Given the description of an element on the screen output the (x, y) to click on. 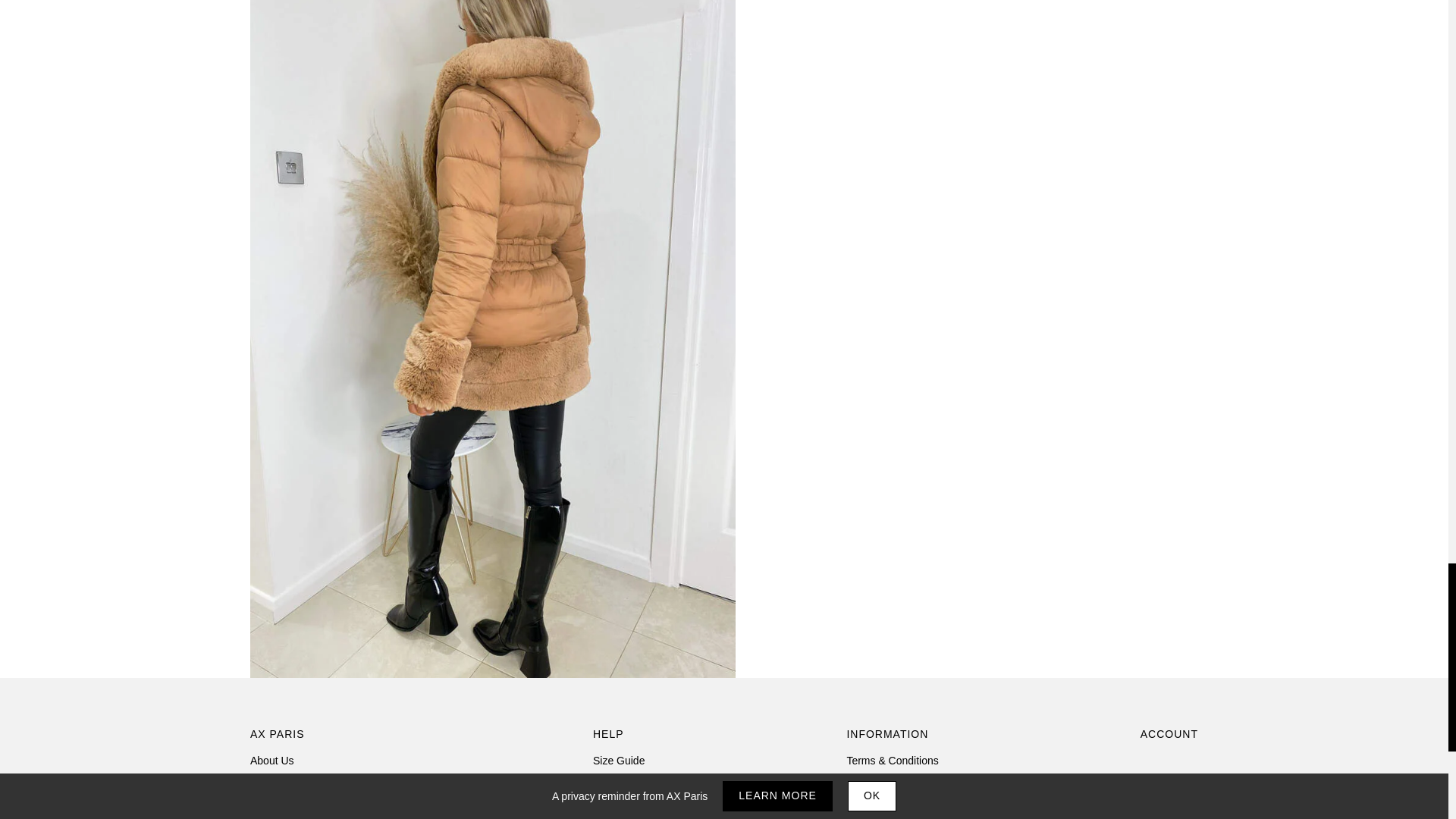
Returns (611, 803)
Delivery (611, 782)
Privacy Policy (878, 782)
About Us (272, 760)
Wholesale Buying Information (320, 782)
Contact Us (276, 803)
Size Guide (618, 760)
